Given the description of an element on the screen output the (x, y) to click on. 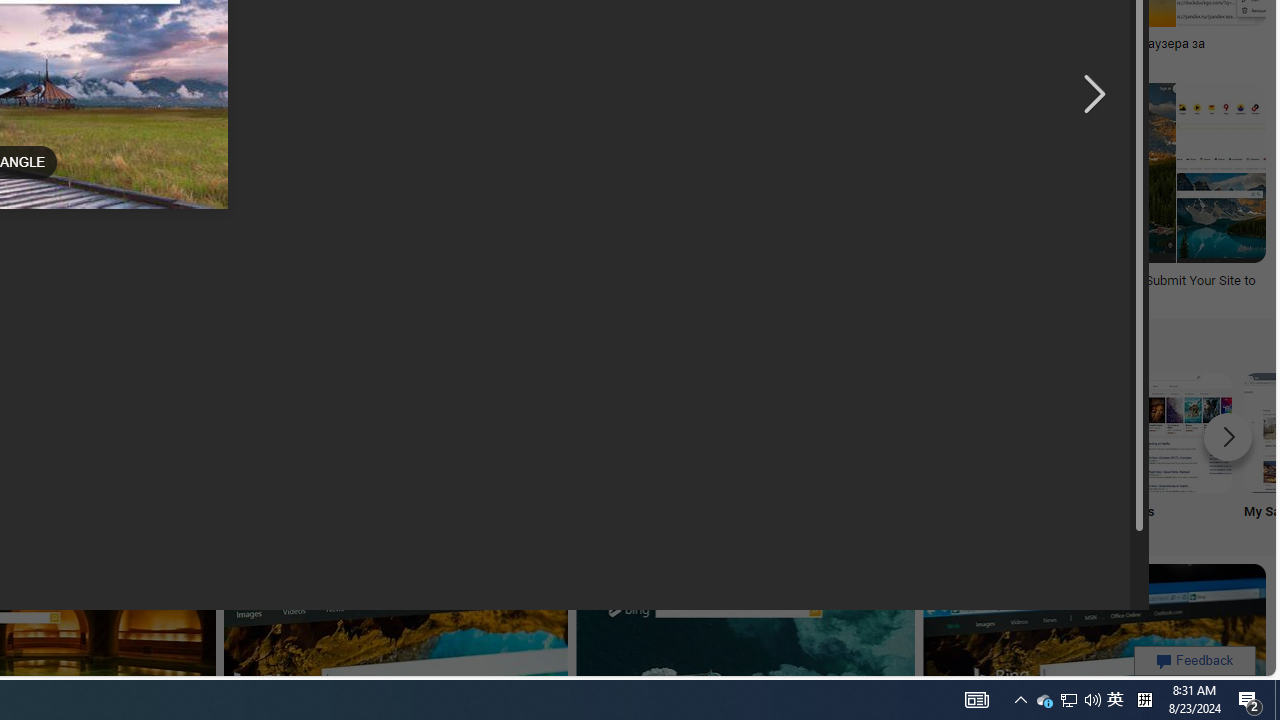
Bing Can Now Search for Any Object in an Image (689, 44)
App (511, 450)
Bing Search App App (511, 450)
Tricks (1039, 450)
Bing Movies Search Movies (1171, 450)
Scroll more suggestions right (1227, 436)
Image result for Bing Search Site (1221, 217)
Bar Install (380, 450)
Top 10 Search engine | REALITYPOD - Part 3 (347, 44)
Bing Random Search Random (116, 450)
Bing Intelligent Search Intelligent (643, 450)
